Given the description of an element on the screen output the (x, y) to click on. 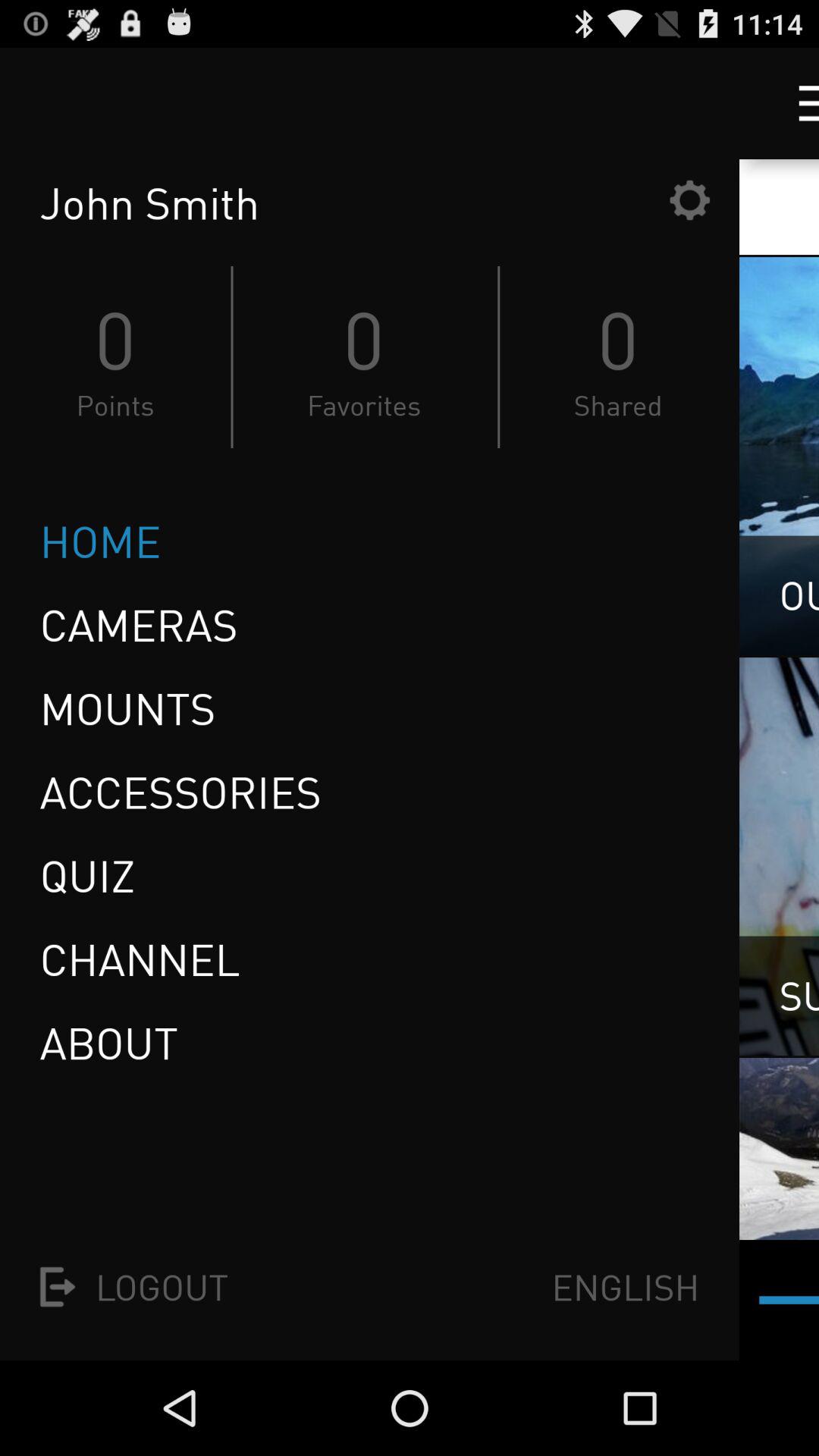
turn on icon below cameras item (127, 708)
